Given the description of an element on the screen output the (x, y) to click on. 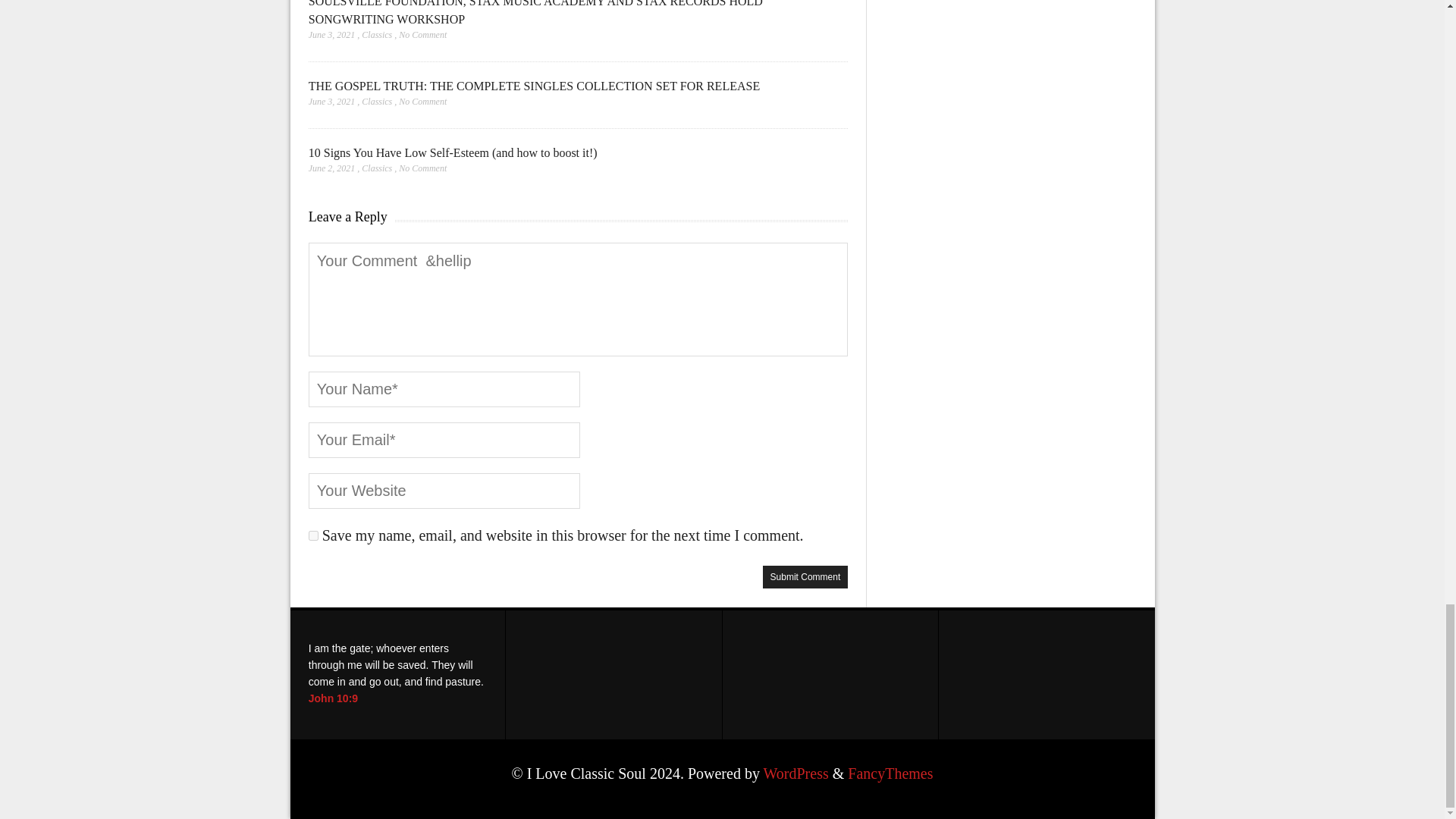
Classics (376, 101)
No Comment (422, 101)
WordPress (795, 773)
Posts by Classics (376, 101)
Classics (376, 34)
John 10:9 (333, 698)
No Comment (422, 167)
Submit Comment (805, 576)
No Comment (422, 34)
Classics (376, 167)
Submit Comment (805, 576)
FancyThemes (890, 773)
